Given the description of an element on the screen output the (x, y) to click on. 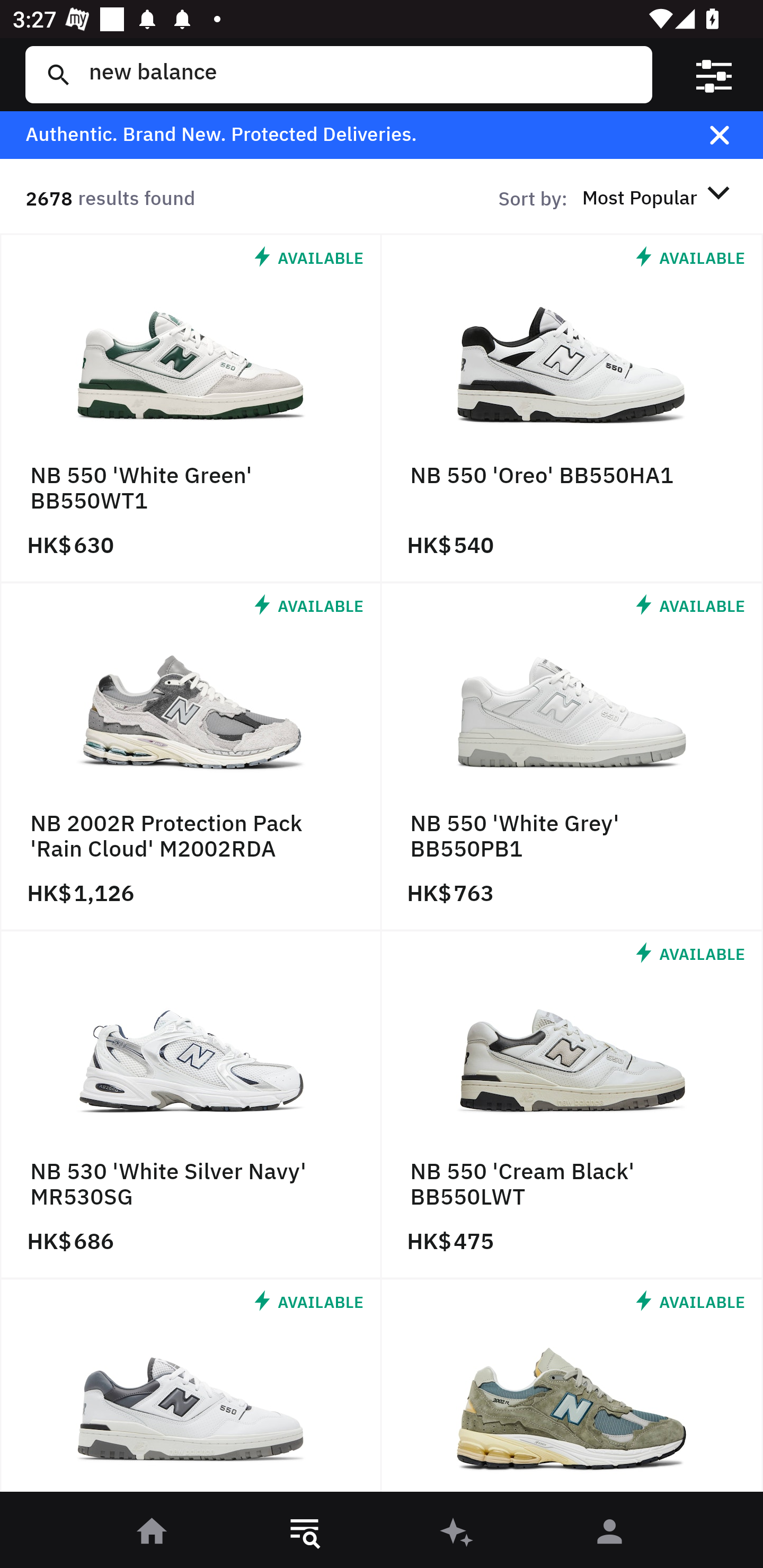
new balance (358, 74)
 (713, 74)
Authentic. Brand New. Protected Deliveries. (350, 134)
 (732, 134)
Most Popular  (659, 196)
 AVAILABLE NB 550 'White Green' BB550WT1 HK$ 630 (190, 409)
 AVAILABLE NB 550 'Oreo' BB550HA1 HK$ 540 (572, 409)
 AVAILABLE NB 550 'White Grey' BB550PB1 HK$ 763 (572, 757)
NB 530 'White Silver Navy' MR530SG HK$ 686 (190, 1105)
 AVAILABLE NB 550 'Cream Black' BB550LWT HK$ 475 (572, 1105)
 AVAILABLE (190, 1389)
 AVAILABLE (572, 1389)
󰋜 (152, 1532)
󱎸 (305, 1532)
󰫢 (457, 1532)
󰀄 (610, 1532)
